Given the description of an element on the screen output the (x, y) to click on. 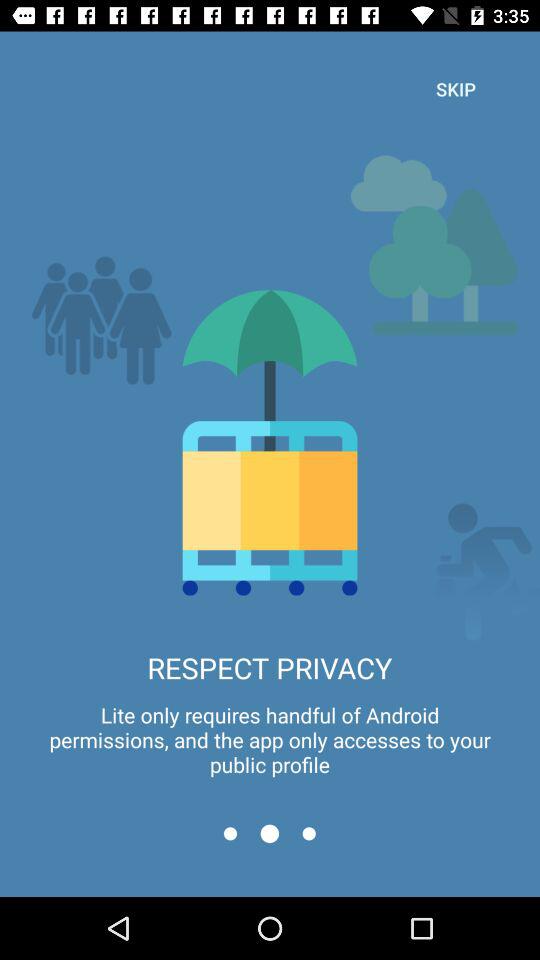
go back (230, 833)
